Given the description of an element on the screen output the (x, y) to click on. 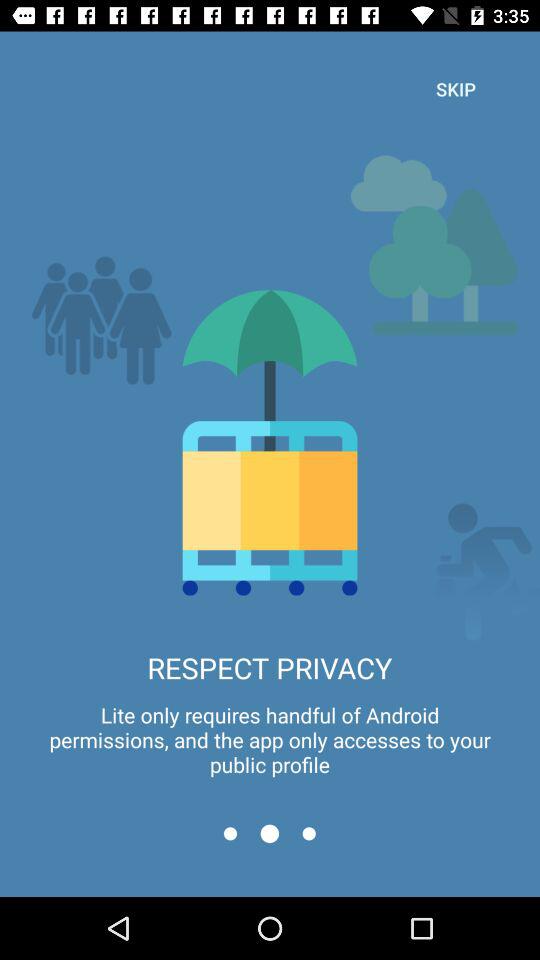
go back (230, 833)
